Given the description of an element on the screen output the (x, y) to click on. 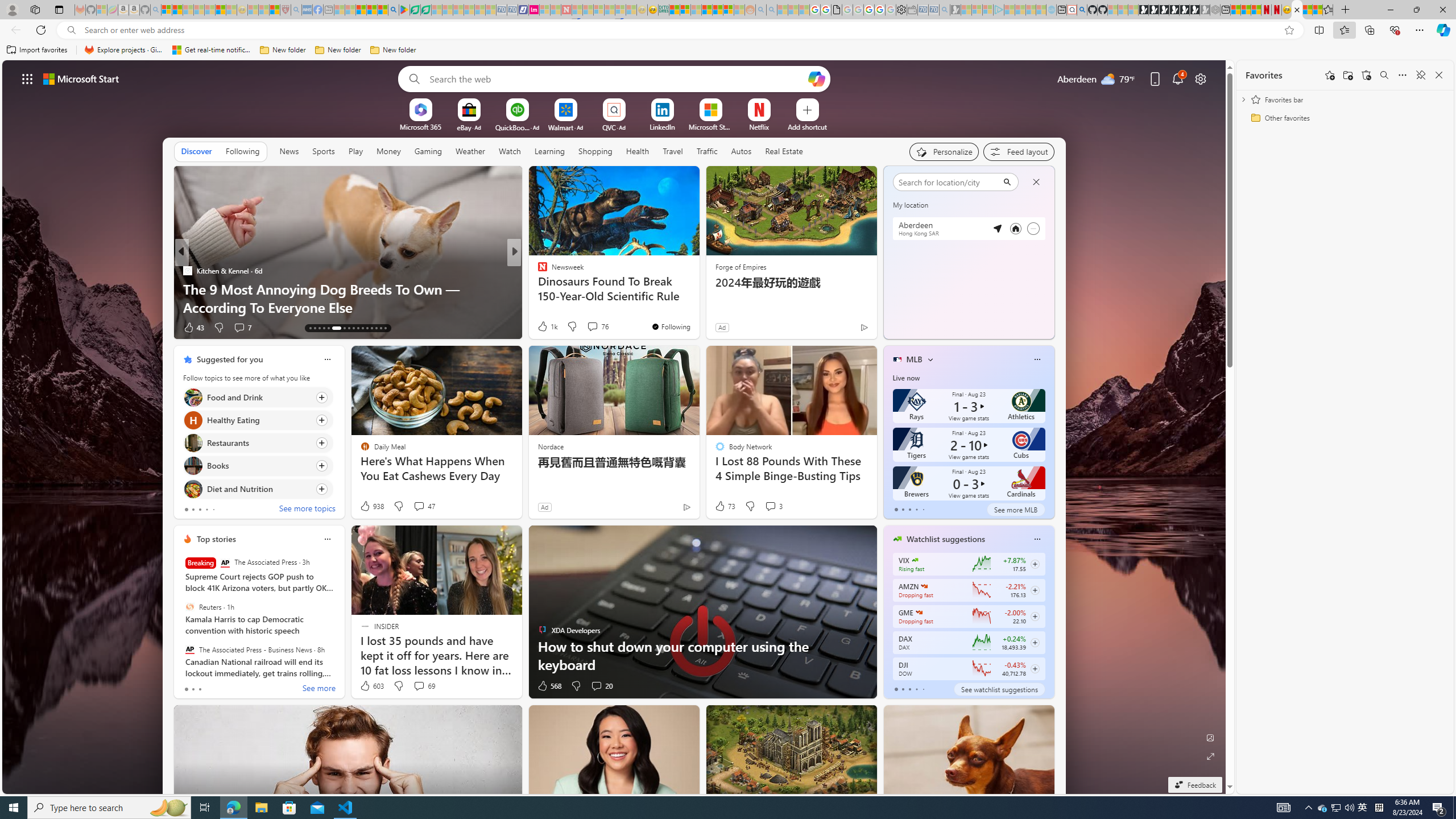
Cannot remove (1032, 228)
1k Like (546, 326)
Kinda Frugal - MSN (717, 9)
next (1047, 252)
Microsoft Word - consumer-privacy address update 2.2021 (426, 9)
